Given the description of an element on the screen output the (x, y) to click on. 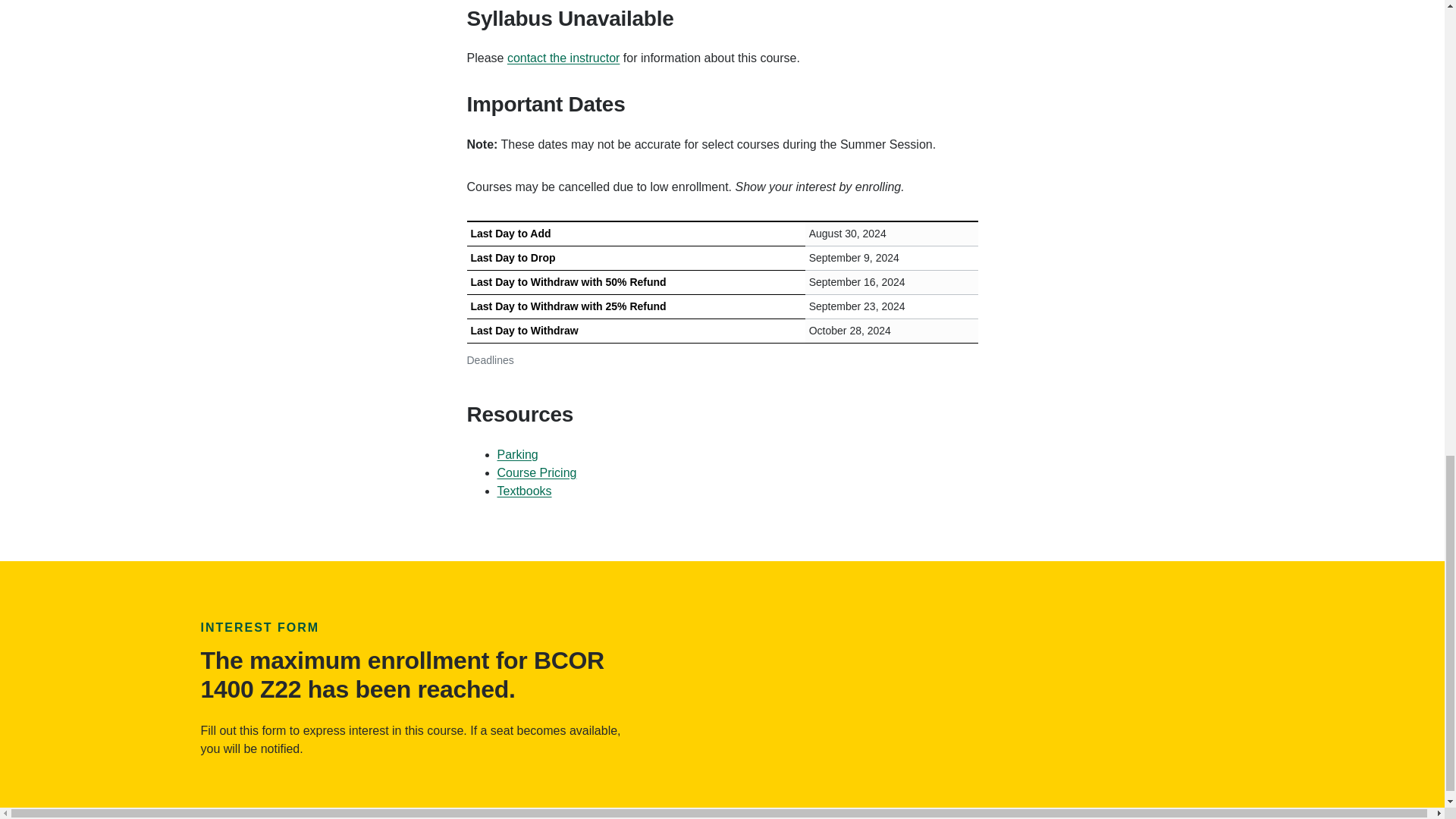
Renee Petipas (563, 57)
